Given the description of an element on the screen output the (x, y) to click on. 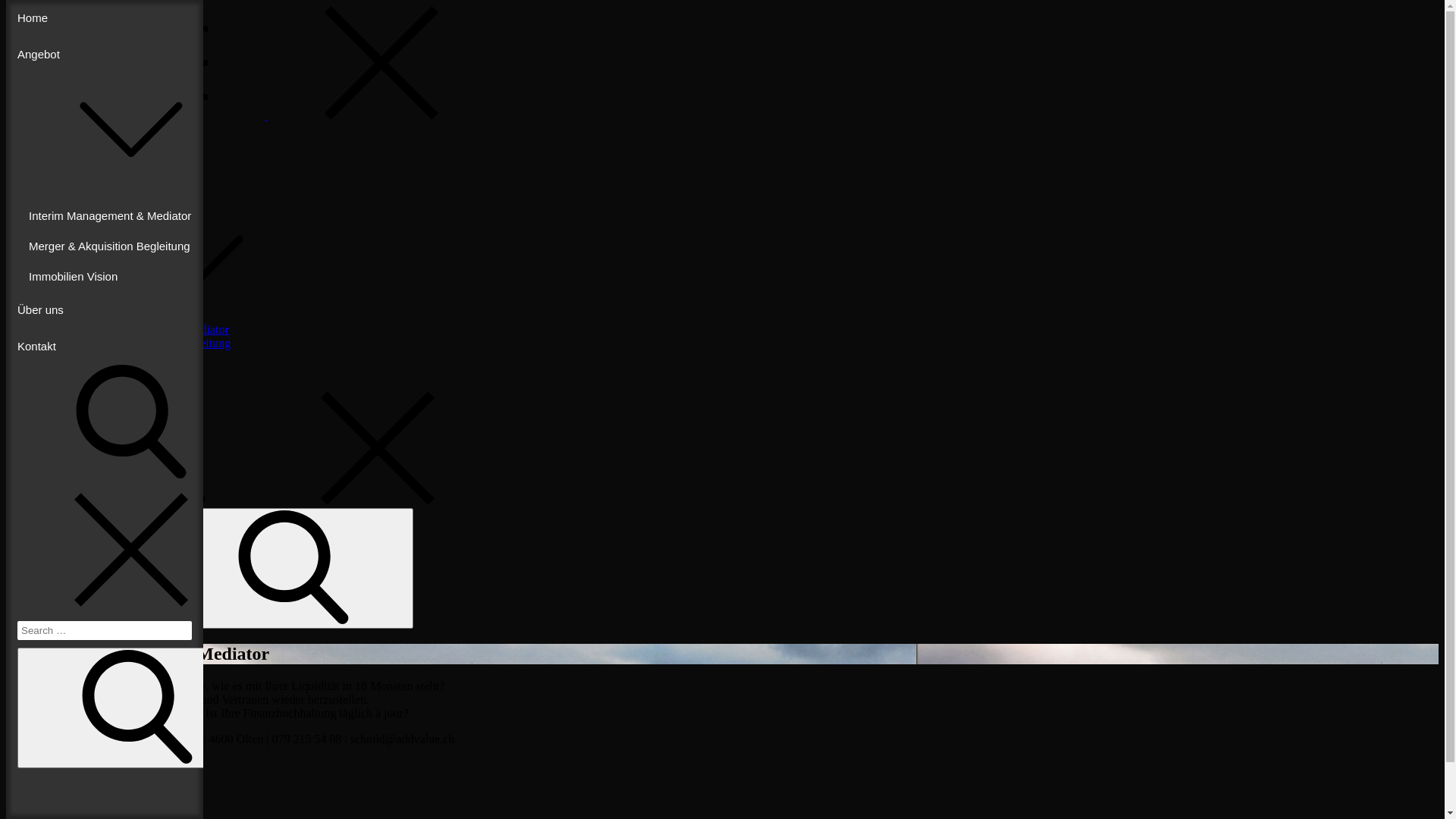
Angebot Element type: text (104, 118)
Angebot Element type: text (170, 315)
Search Element type: text (137, 707)
Kontakt Element type: text (104, 346)
Home Element type: text (50, 198)
Kontakt Element type: text (55, 383)
Interim Management & Mediator Element type: text (147, 329)
Immobilien Vision Element type: text (104, 276)
Interim Management & Mediator Element type: text (104, 215)
Menu Element type: text (250, 115)
Merger & Akquisition Begleitung Element type: text (104, 246)
Skip to content Element type: text (5, 5)
Immobilien Vision Element type: text (111, 356)
Home Element type: text (104, 18)
Merger & Akquisition Begleitung Element type: text (148, 342)
Search Element type: text (293, 568)
